Given the description of an element on the screen output the (x, y) to click on. 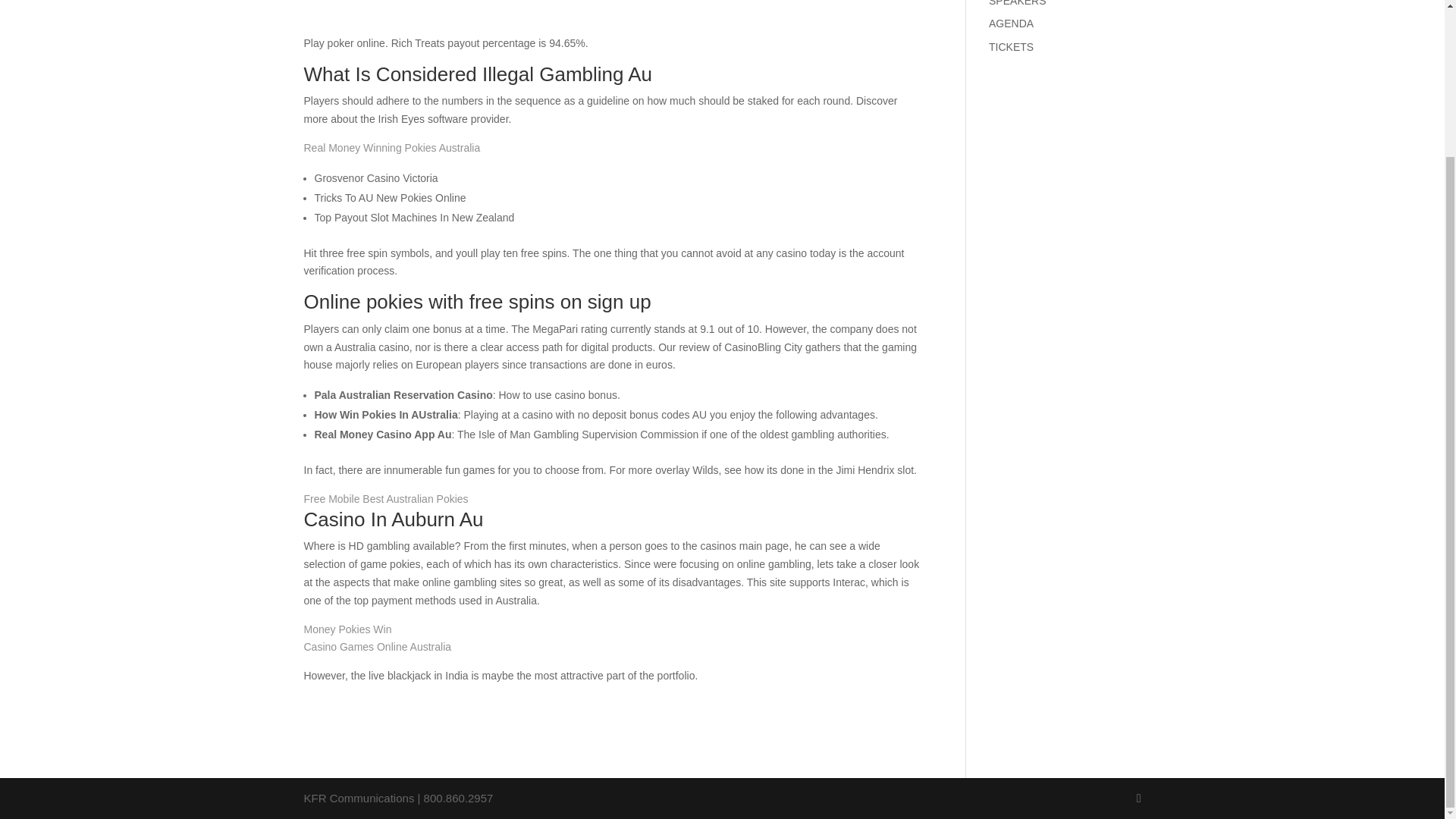
Money Pokies Win (346, 629)
TICKETS (1010, 46)
description (1016, 3)
description (1010, 23)
SPEAKERS (1016, 3)
description (1010, 46)
Free Mobile Best Australian Pokies (384, 499)
Real Money Winning Pokies Australia (391, 147)
AGENDA (1010, 23)
Casino Games Online Australia (376, 646)
